Given the description of an element on the screen output the (x, y) to click on. 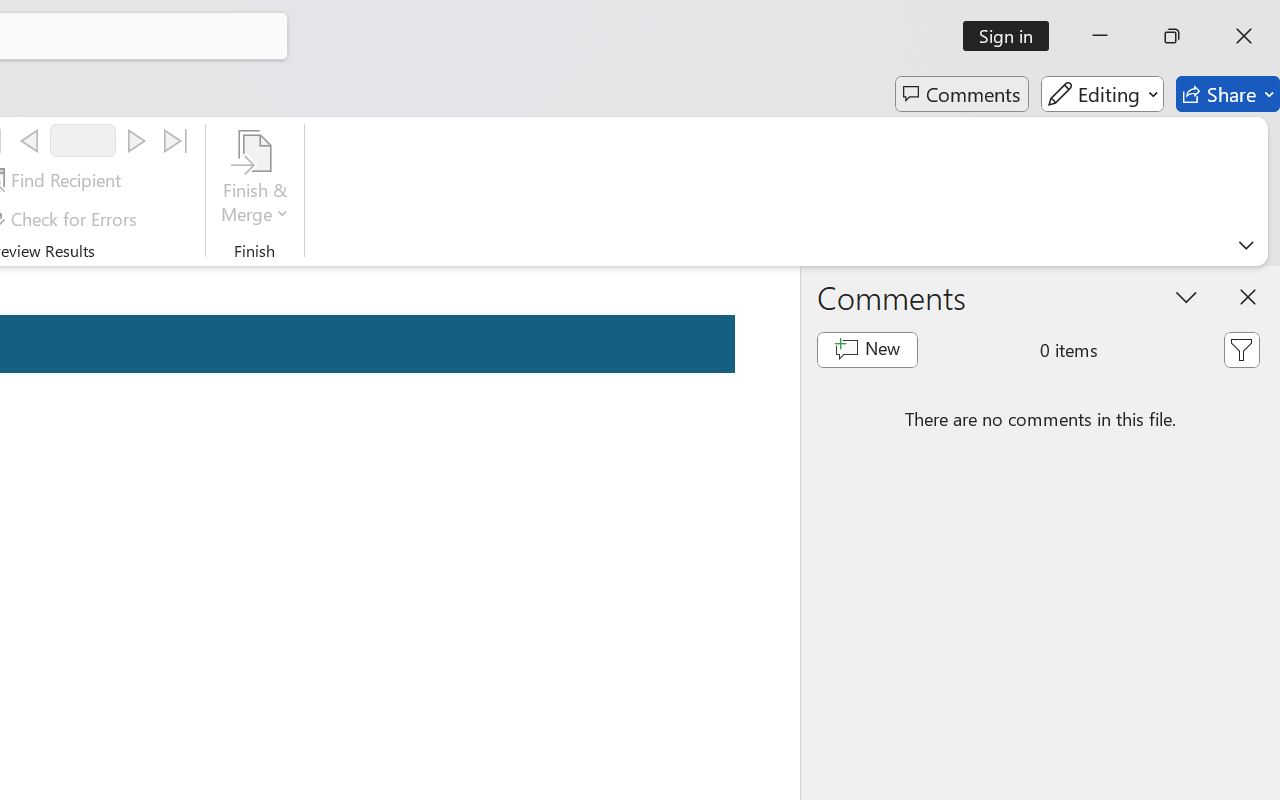
Finish & Merge (255, 179)
